Given the description of an element on the screen output the (x, y) to click on. 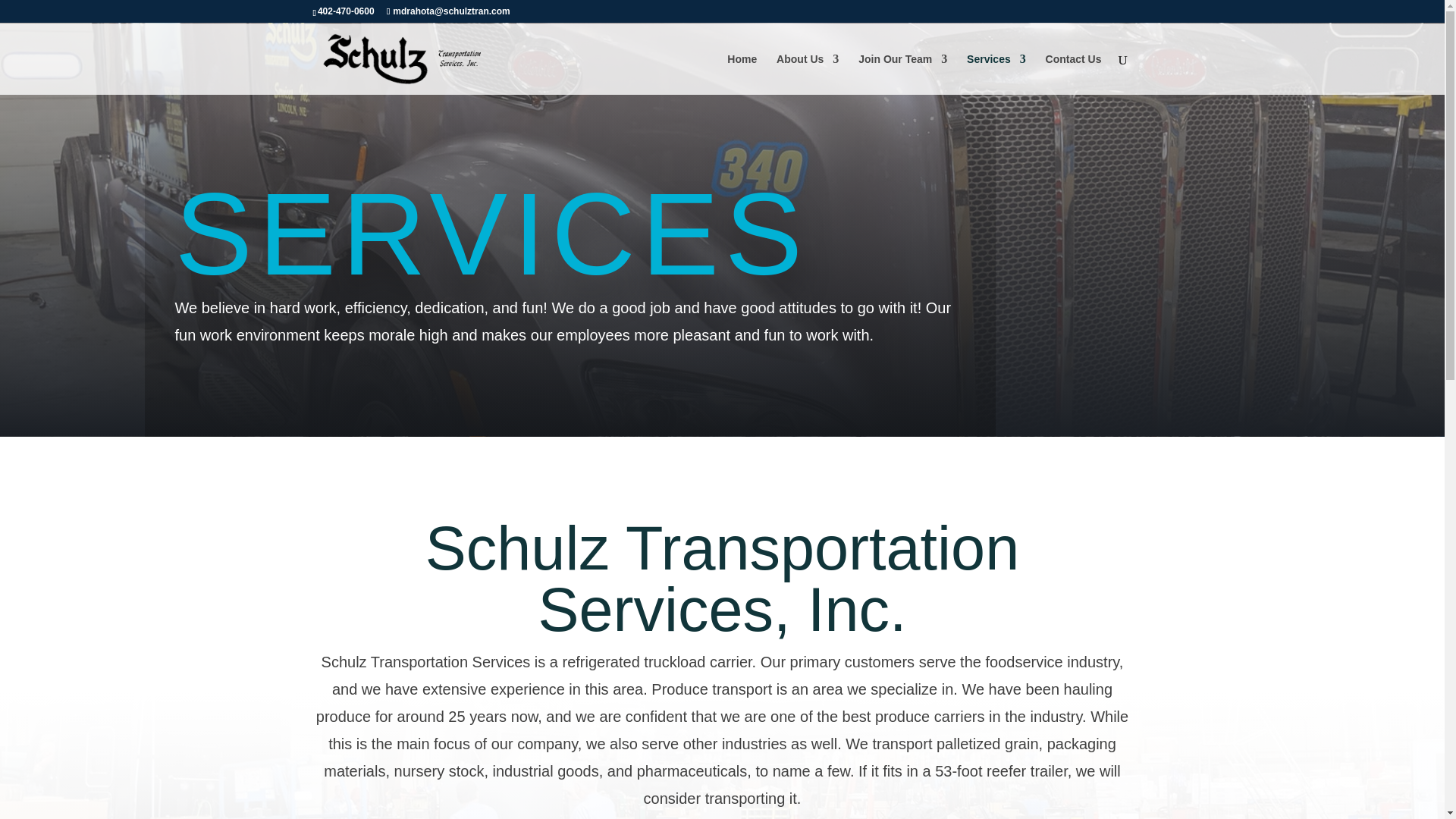
About Us (807, 74)
Contact Us (1073, 74)
Services (996, 74)
Join Our Team (903, 74)
